Given the description of an element on the screen output the (x, y) to click on. 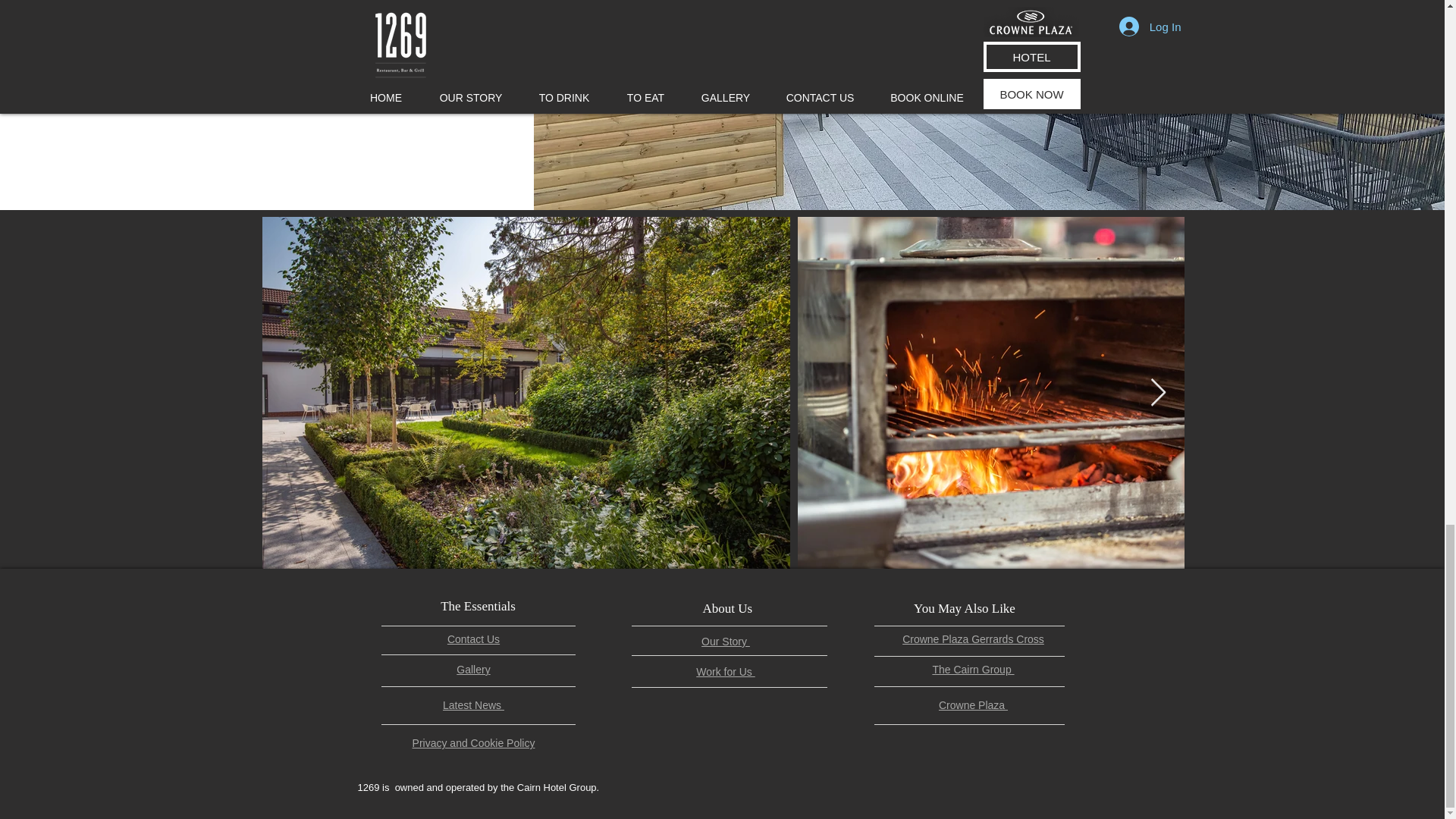
Latest News  (472, 705)
Gallery (473, 669)
Contact Us (472, 639)
Crowne Plaza  (973, 705)
Work for Us  (725, 671)
Our Story  (725, 641)
Crowne Plaza Gerrards Cross (972, 639)
The Cairn Group  (972, 669)
Privacy and Cookie Policy (473, 743)
